Given the description of an element on the screen output the (x, y) to click on. 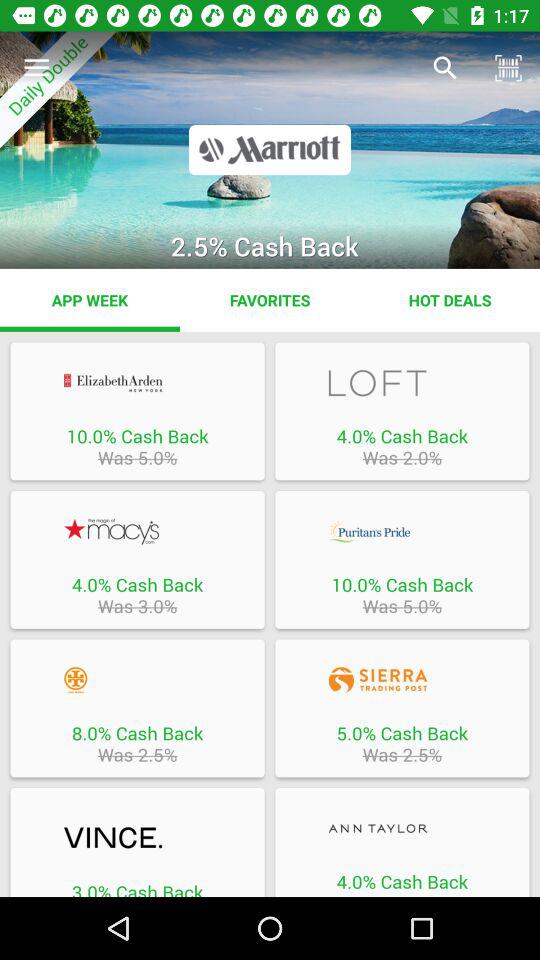
jump to the favorites icon (270, 299)
